Given the description of an element on the screen output the (x, y) to click on. 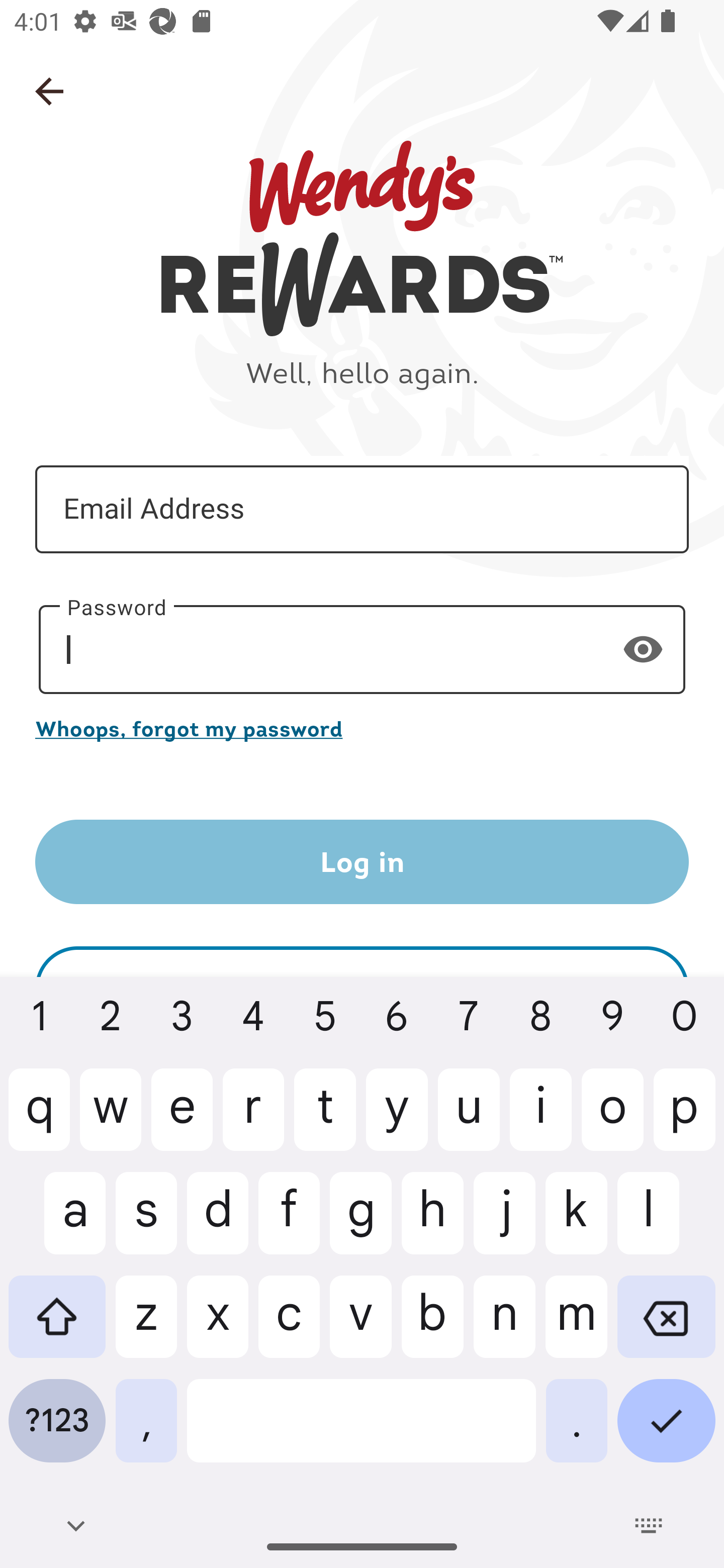
Navigate up (49, 91)
Email Address (361, 509)
Password (361, 649)
Show password (642, 648)
Whoops, forgot my password (361, 728)
Log in (361, 862)
